Given the description of an element on the screen output the (x, y) to click on. 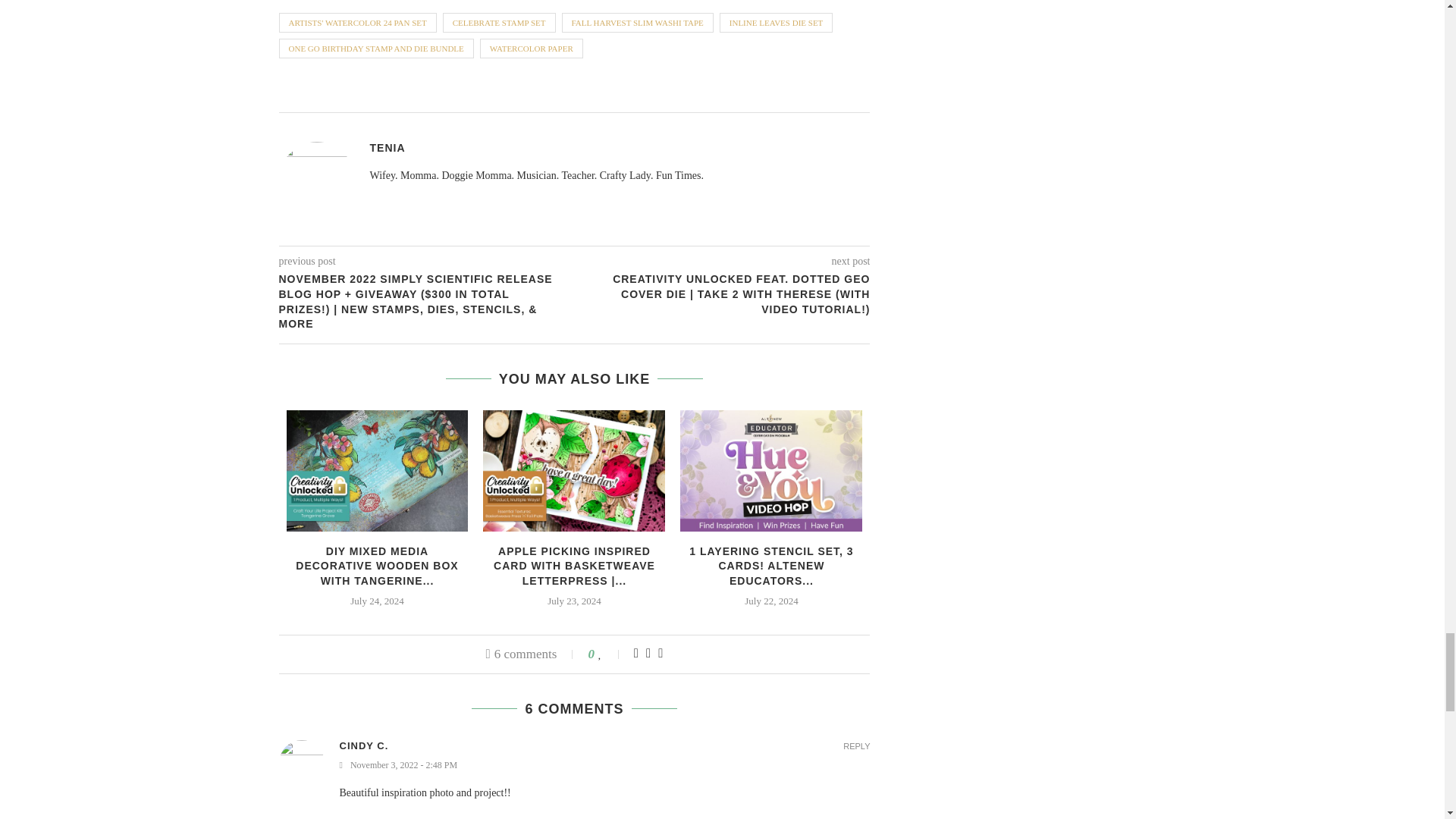
Like (610, 653)
Thursday, November 3, 2022, 2:48 pm (604, 765)
Posts by Tenia (387, 147)
